Given the description of an element on the screen output the (x, y) to click on. 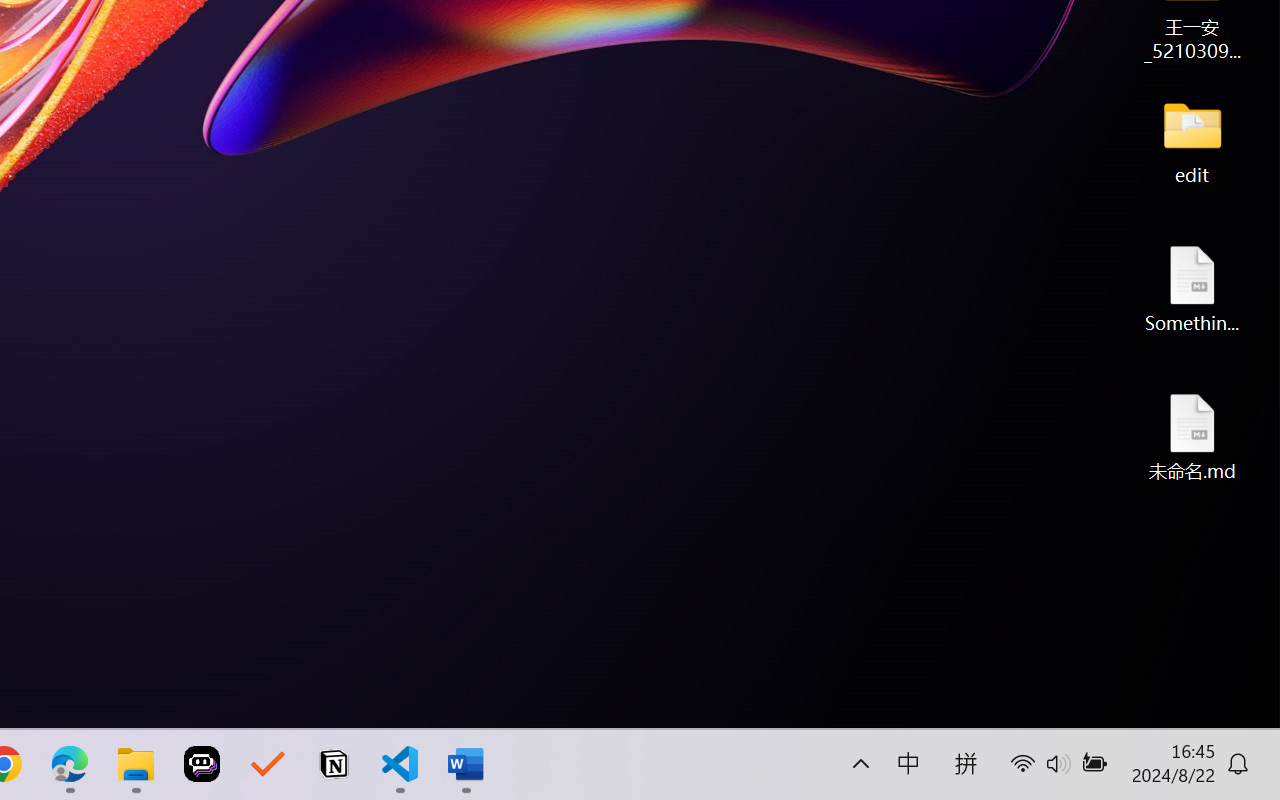
edit (1192, 140)
Something.md (1192, 288)
